Given the description of an element on the screen output the (x, y) to click on. 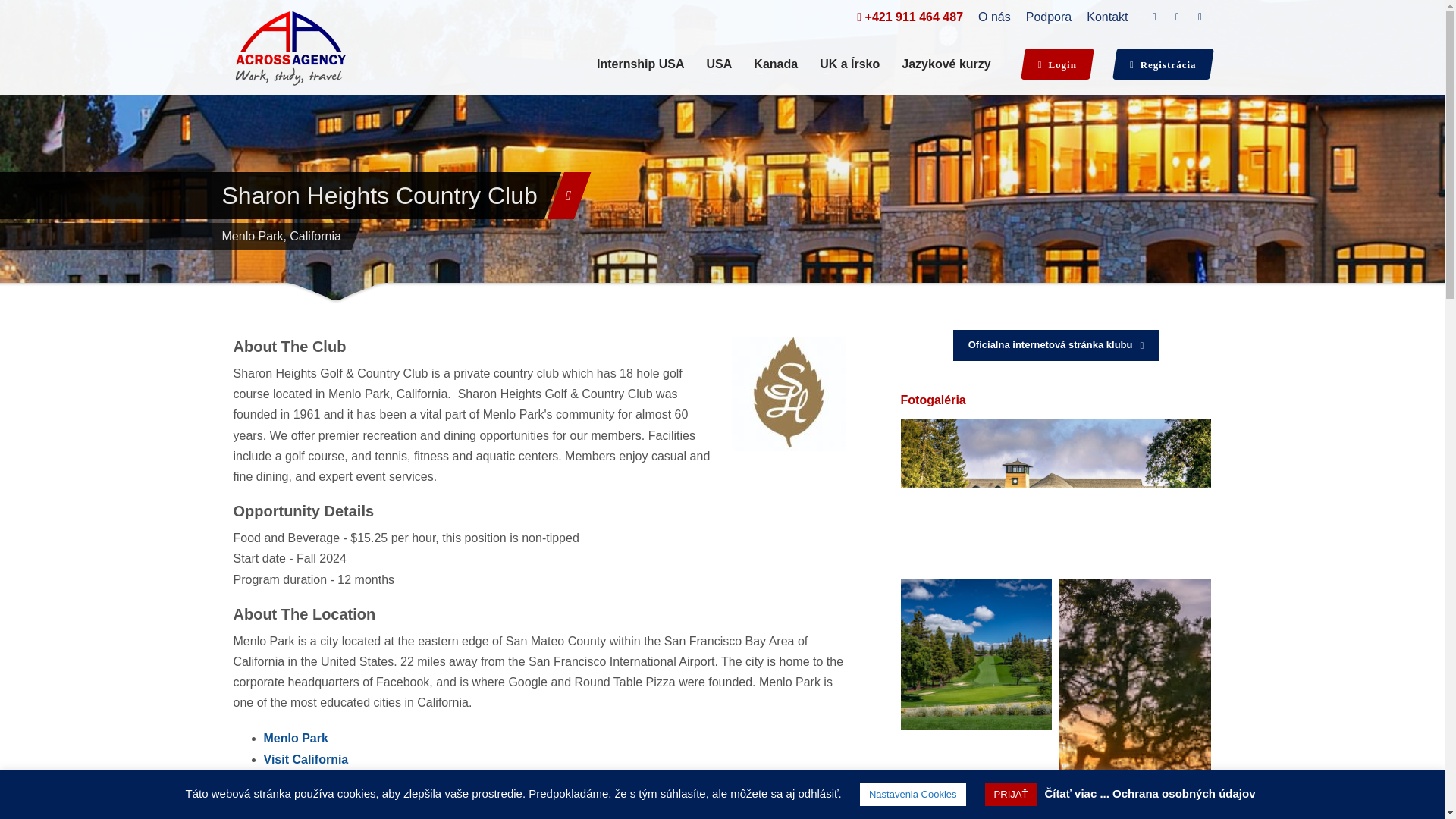
Twitter (1177, 16)
Sharon Heights Country Club (1055, 494)
Facebook (1154, 16)
Sharon Heights Country Club (1055, 345)
Podpora (1048, 16)
Kanada (775, 64)
USA (719, 64)
SH 8 (976, 654)
Internship USA (641, 64)
Instagram (1200, 16)
Kontakt (1106, 16)
Sharon Heights Country Club (975, 653)
SH 4 (1056, 494)
